Given the description of an element on the screen output the (x, y) to click on. 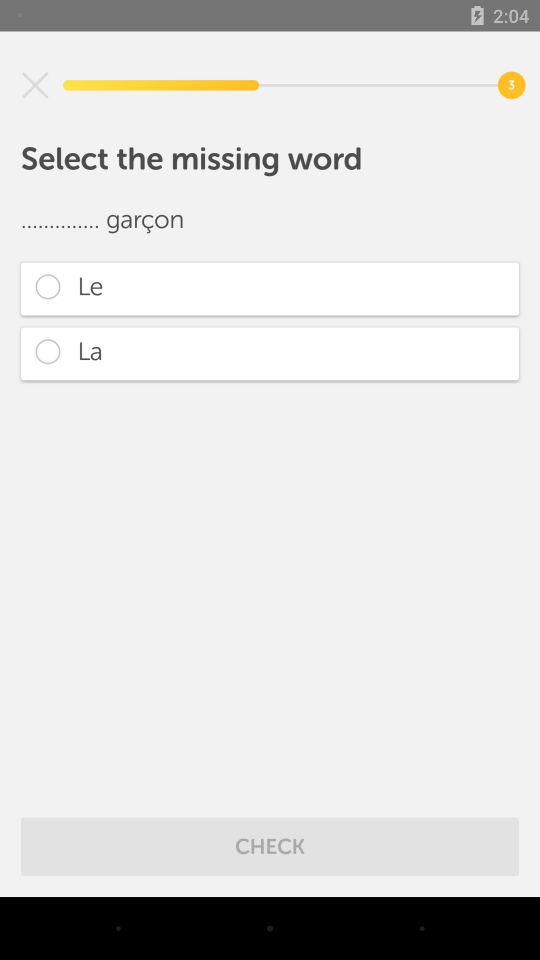
turn on the la item (270, 353)
